Given the description of an element on the screen output the (x, y) to click on. 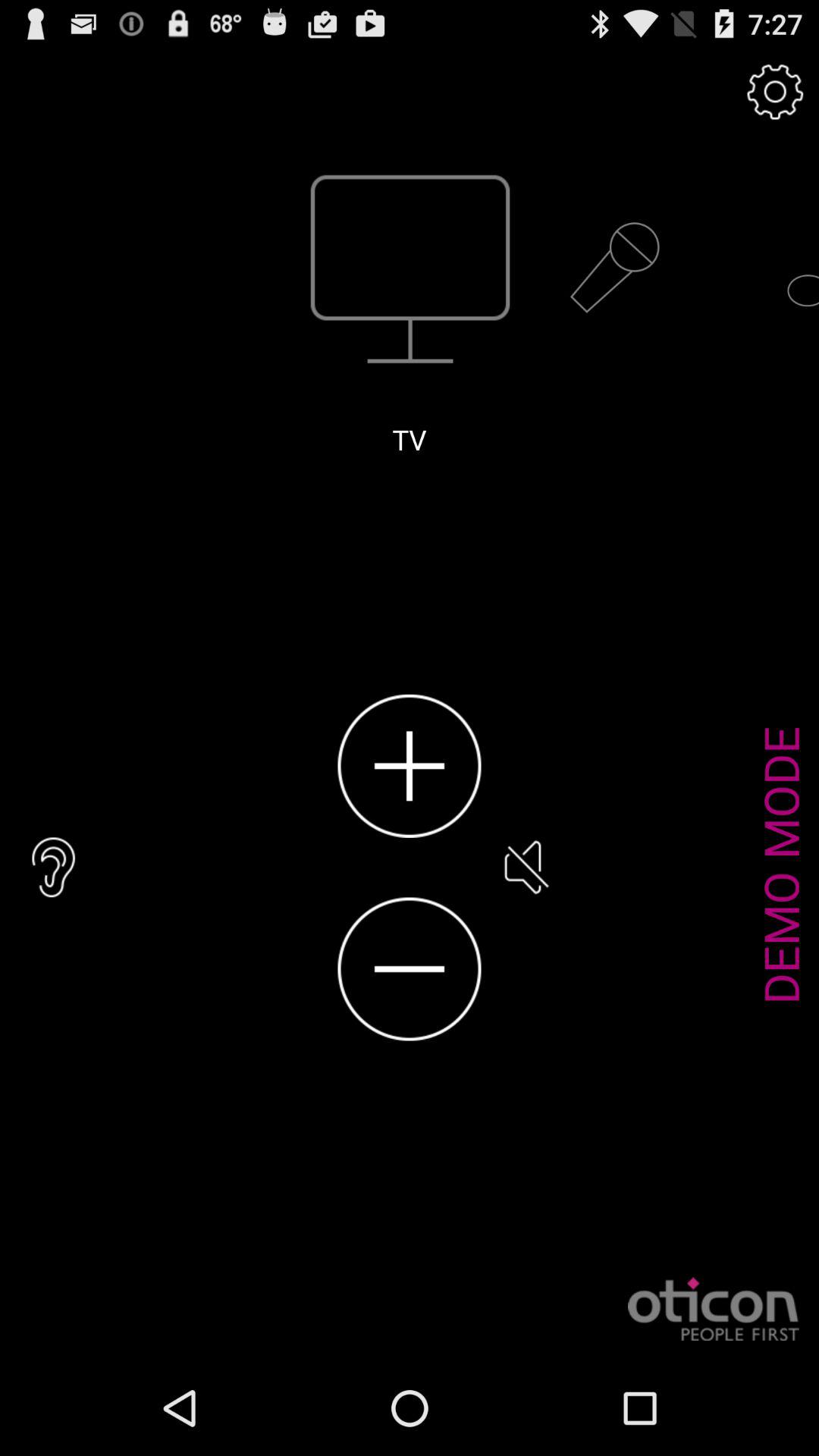
click on the mute button (524, 867)
select the icon below the plus icon (409, 969)
click on the tv icon which is above the text tv (409, 268)
select the mic icon which is on the right side of the page (614, 268)
select the mic icon which is on the right side of the page (614, 268)
